Given the description of an element on the screen output the (x, y) to click on. 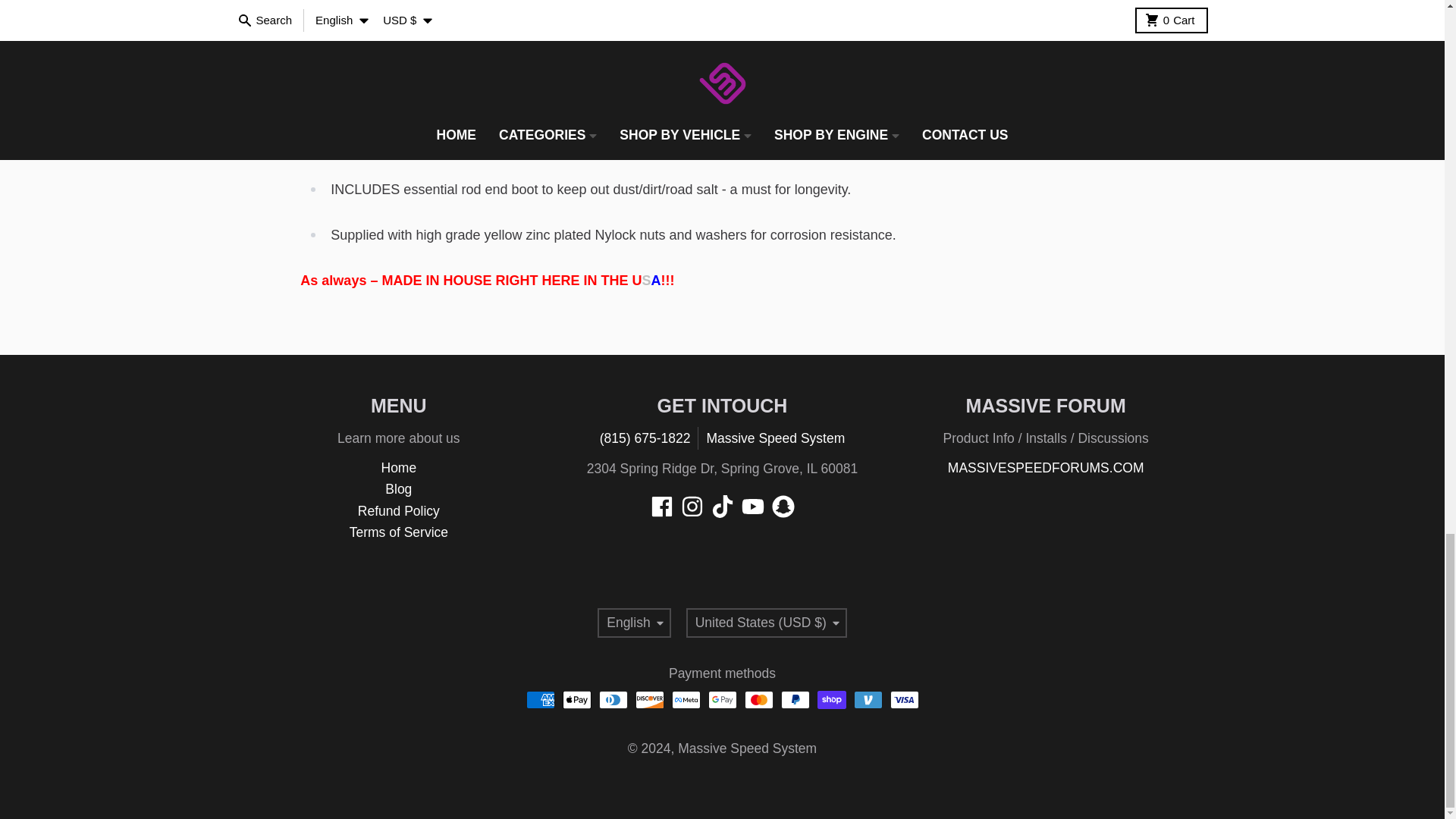
Facebook - Massive Speed System (661, 506)
Snapchat - Massive Speed System (782, 506)
YouTube - Massive Speed System (752, 506)
Instagram - Massive Speed System (692, 506)
TikTok - Massive Speed System (722, 506)
